Given the description of an element on the screen output the (x, y) to click on. 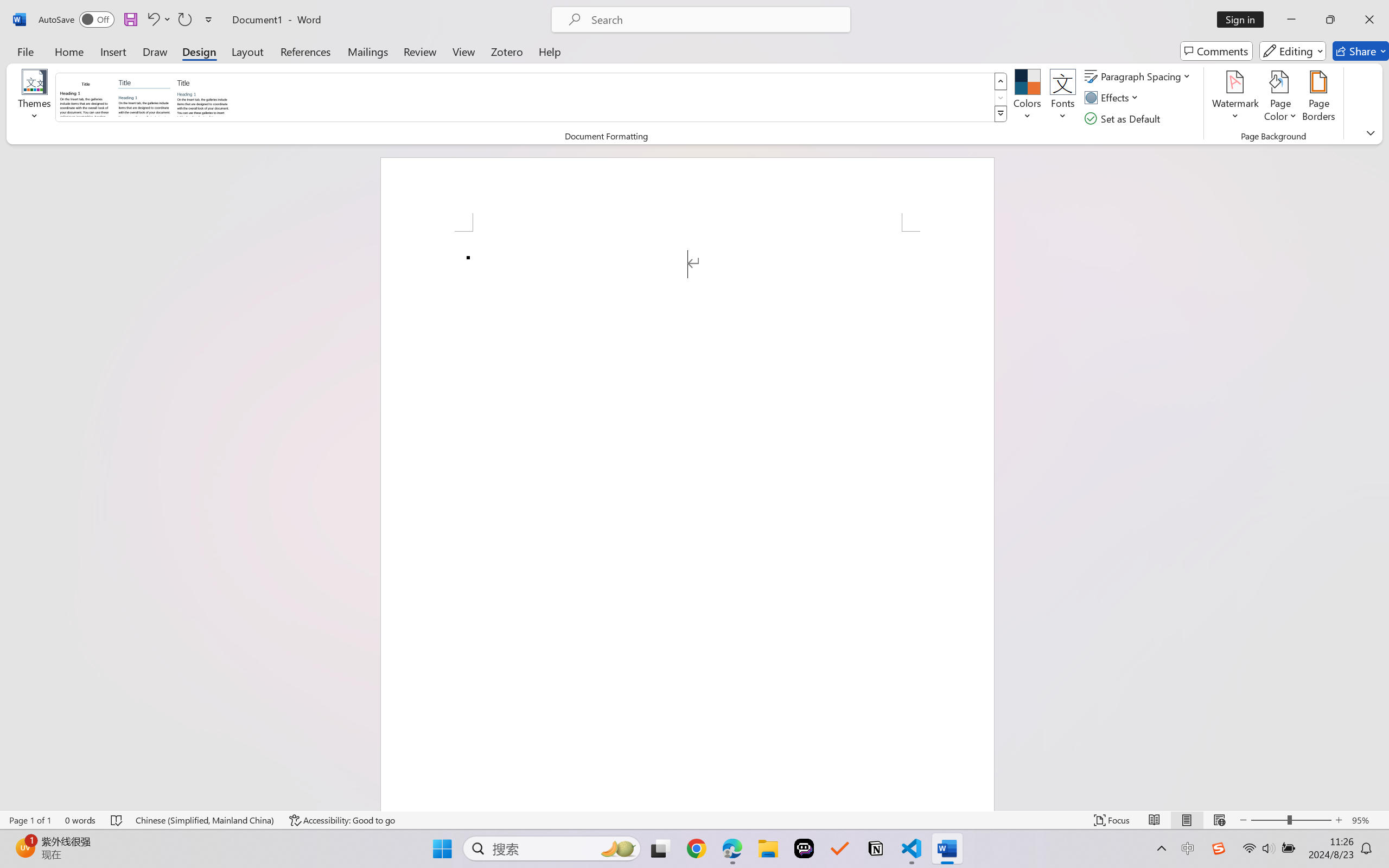
AutomationID: QuickStylesSets (531, 97)
Word 2013 (202, 96)
